Given the description of an element on the screen output the (x, y) to click on. 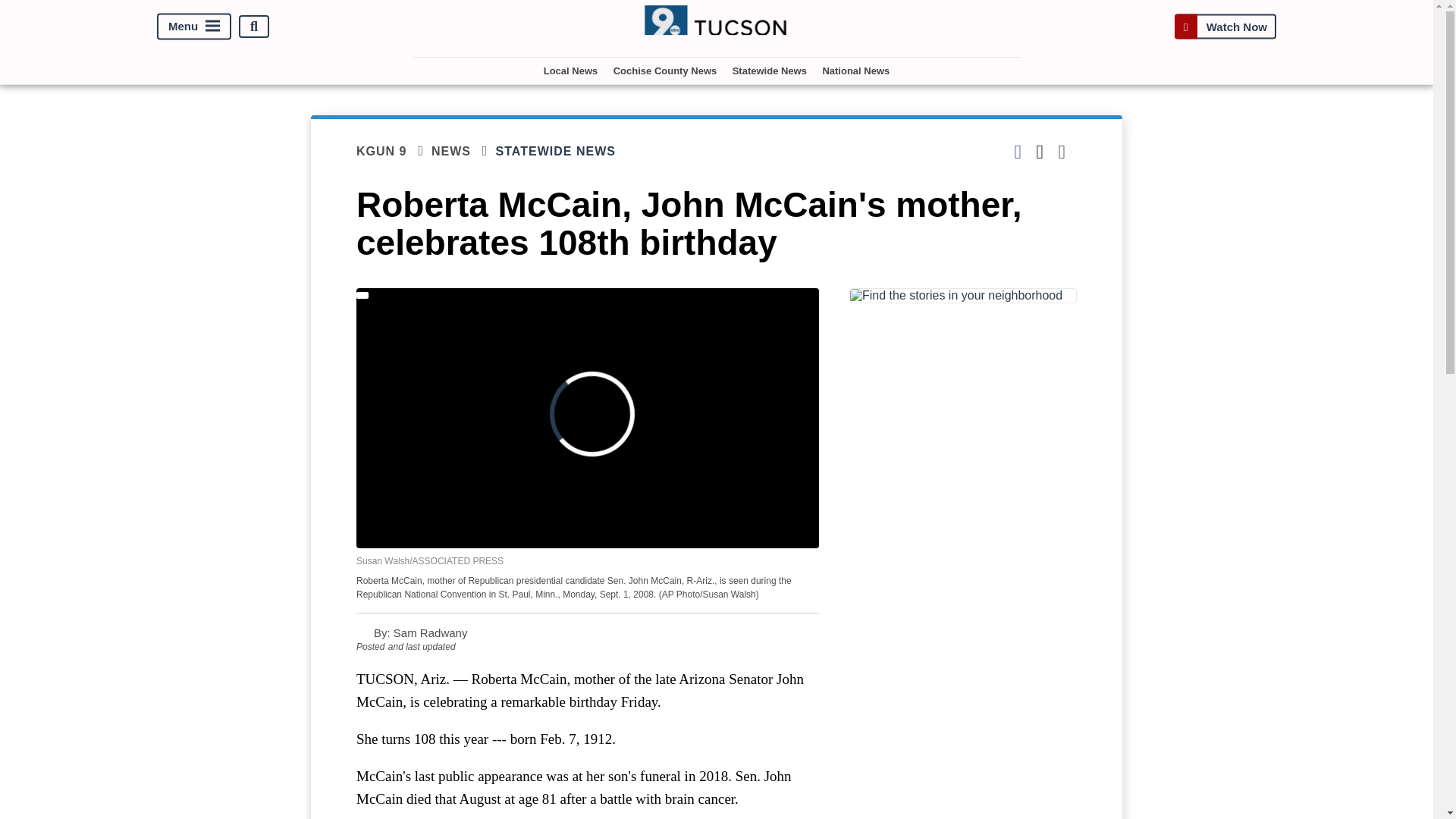
Watch Now (1224, 26)
Menu (194, 26)
